Given the description of an element on the screen output the (x, y) to click on. 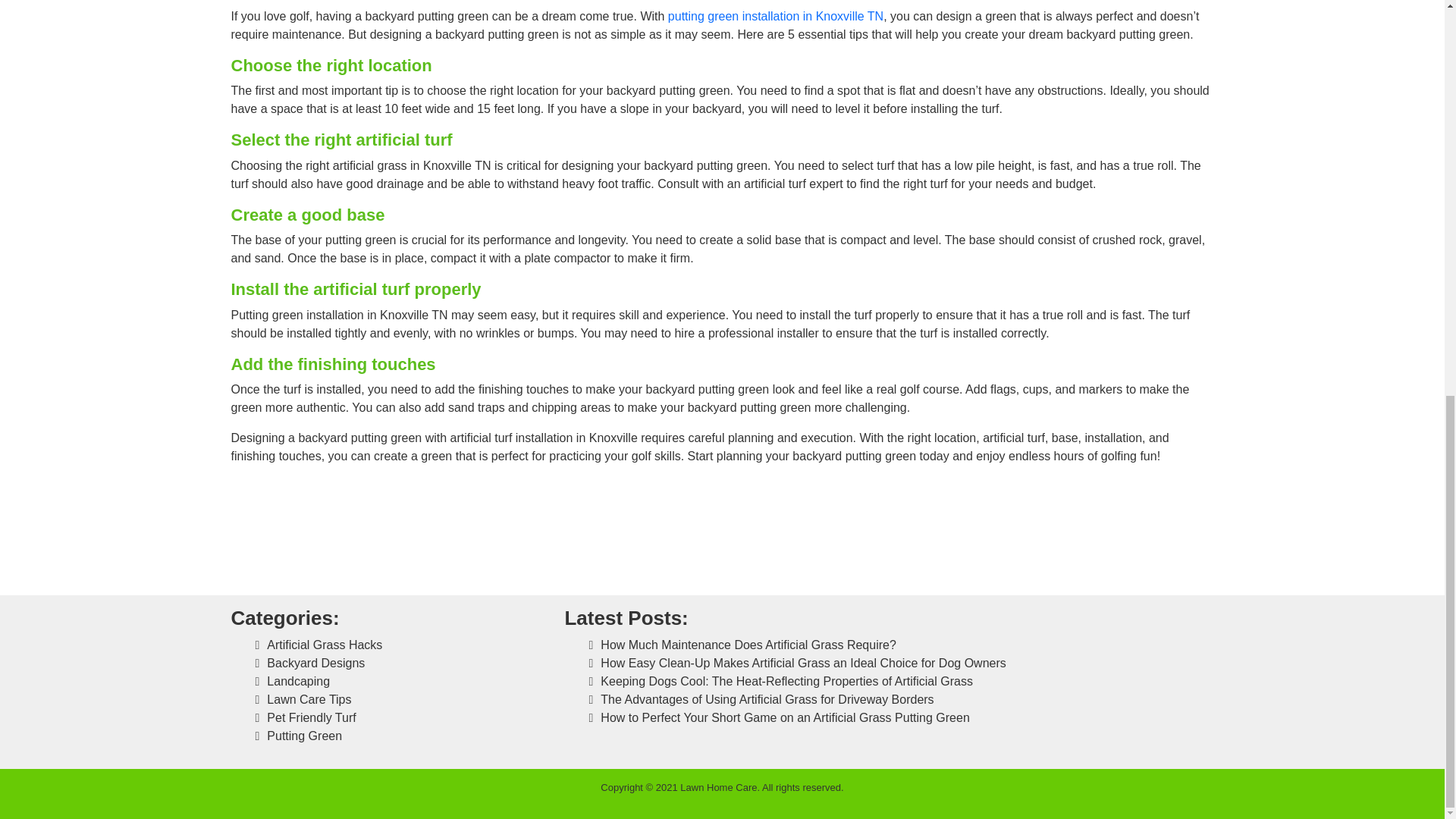
putting green installation in Knoxville TN (775, 15)
Artificial Grass Hacks (323, 644)
Putting Green (304, 735)
Landcaping (298, 680)
How Much Maintenance Does Artificial Grass Require? (747, 644)
Lawn Care Tips (308, 698)
Backyard Designs (315, 662)
Pet Friendly Turf (310, 717)
